Given the description of an element on the screen output the (x, y) to click on. 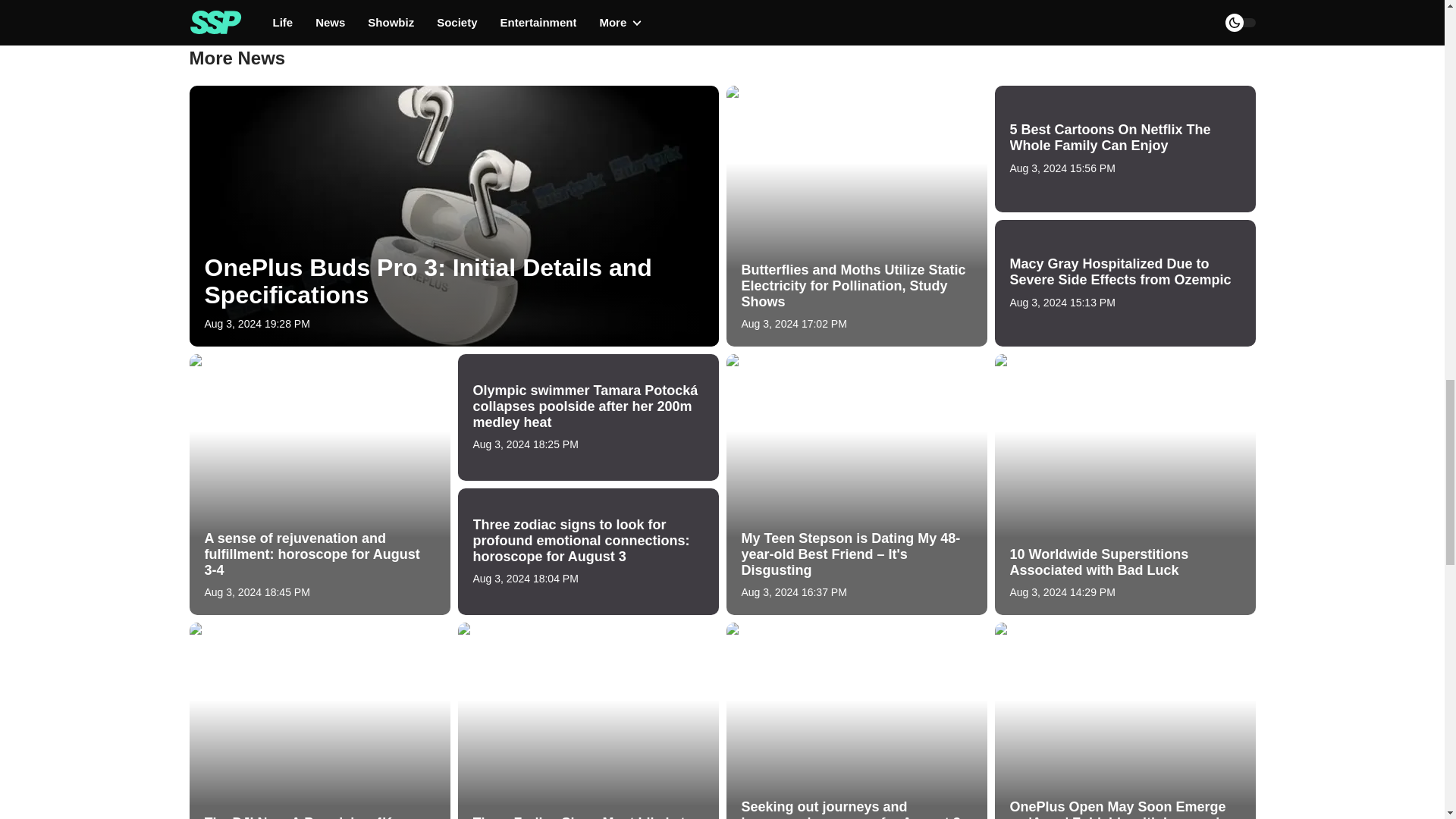
Personal Development (455, 7)
Home (363, 7)
